Given the description of an element on the screen output the (x, y) to click on. 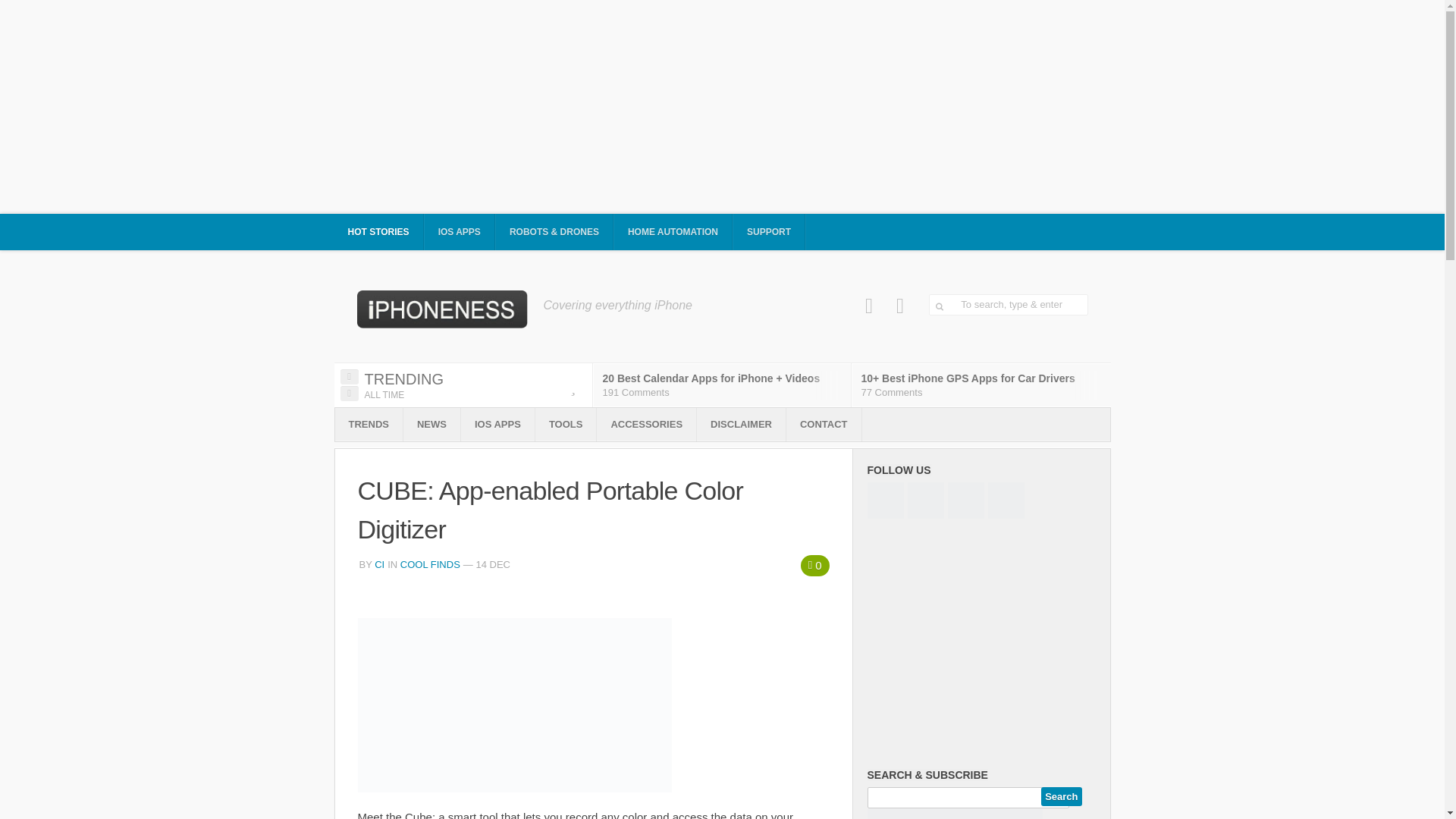
HOME AUTOMATION (673, 231)
TRENDS (368, 424)
Facebook (869, 305)
SUPPORT (769, 231)
HOT STORIES (377, 231)
NEWS (431, 424)
Pinterest (900, 305)
Search (1061, 796)
Posts by Ci (379, 564)
IOS APPS (460, 231)
